Given the description of an element on the screen output the (x, y) to click on. 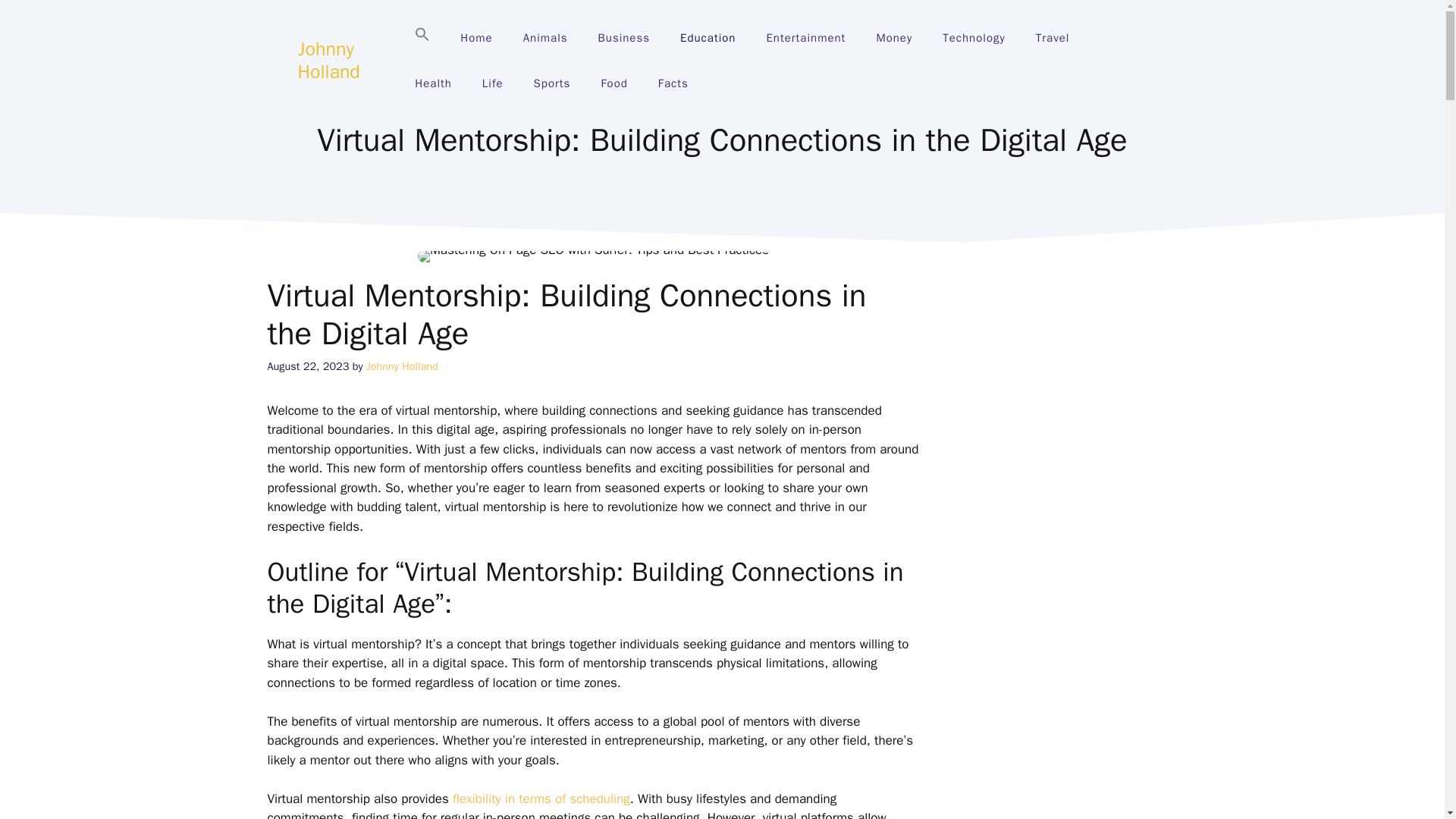
Home (475, 37)
Technology (973, 37)
Business (624, 37)
flexibility in terms of scheduling (541, 798)
Facts (673, 83)
Animals (545, 37)
Money (893, 37)
Health (432, 83)
Entertainment (805, 37)
Travel (1052, 37)
